Given the description of an element on the screen output the (x, y) to click on. 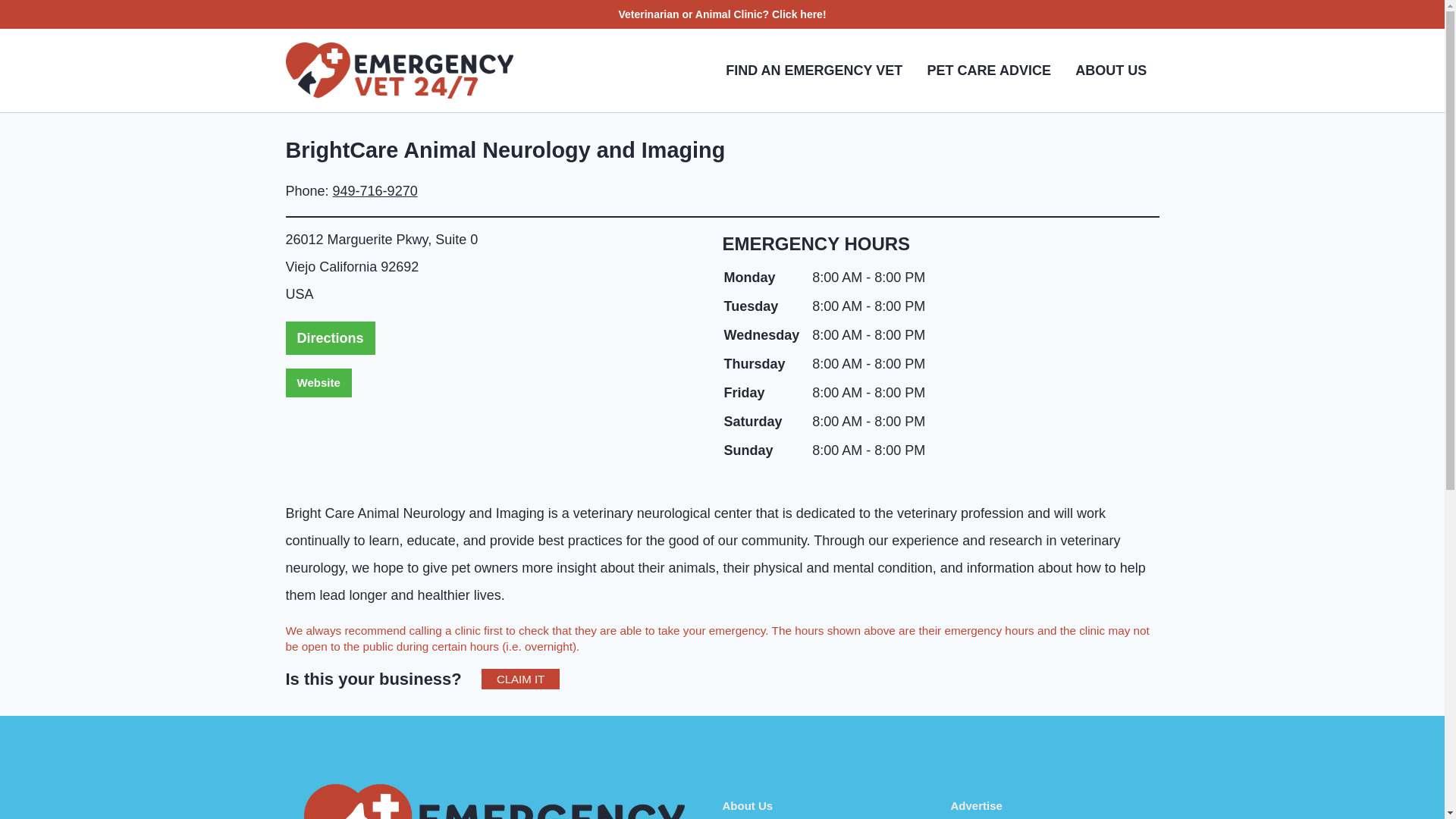
About Us (747, 805)
CLAIM IT (520, 679)
FIND AN EMERGENCY VET (813, 70)
Veterinarian or Animal Clinic? Click here! (721, 14)
ABOUT US (1110, 70)
Advertise (976, 805)
Directions (329, 337)
949-716-9270 (375, 191)
PET CARE ADVICE (988, 70)
